Given the description of an element on the screen output the (x, y) to click on. 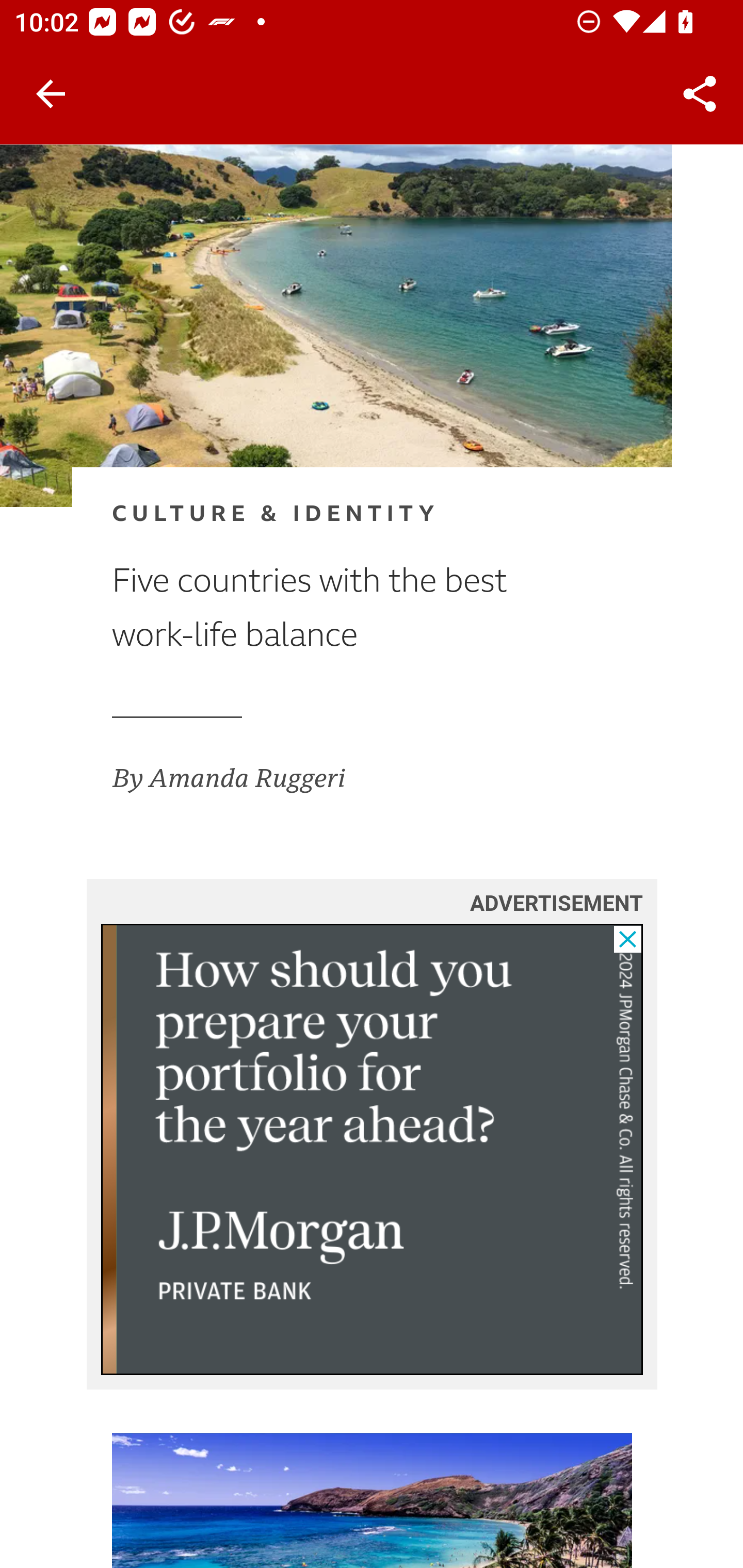
Back (50, 93)
Share (699, 93)
CULTURE & IDENTITY (339, 514)
Five countries with the best work-life balance (339, 608)
